Given the description of an element on the screen output the (x, y) to click on. 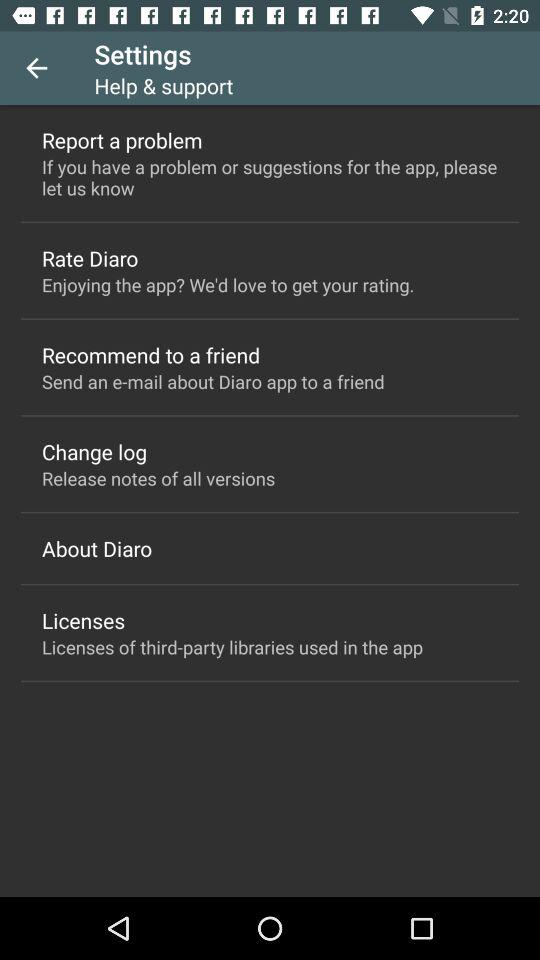
tap the licenses of third (232, 646)
